Given the description of an element on the screen output the (x, y) to click on. 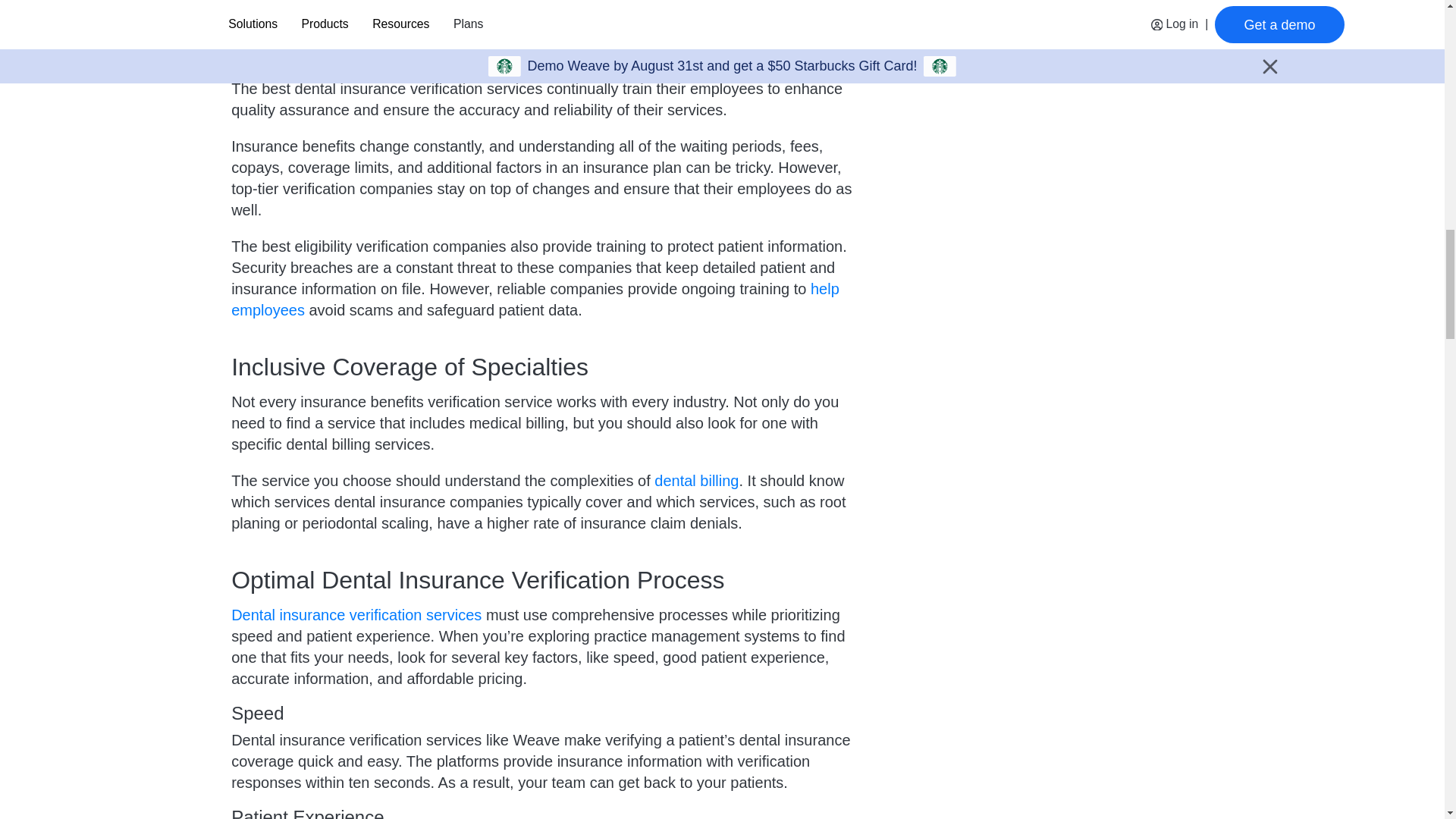
help employees (535, 299)
dental billing (695, 480)
Dental insurance verification services (356, 614)
